Given the description of an element on the screen output the (x, y) to click on. 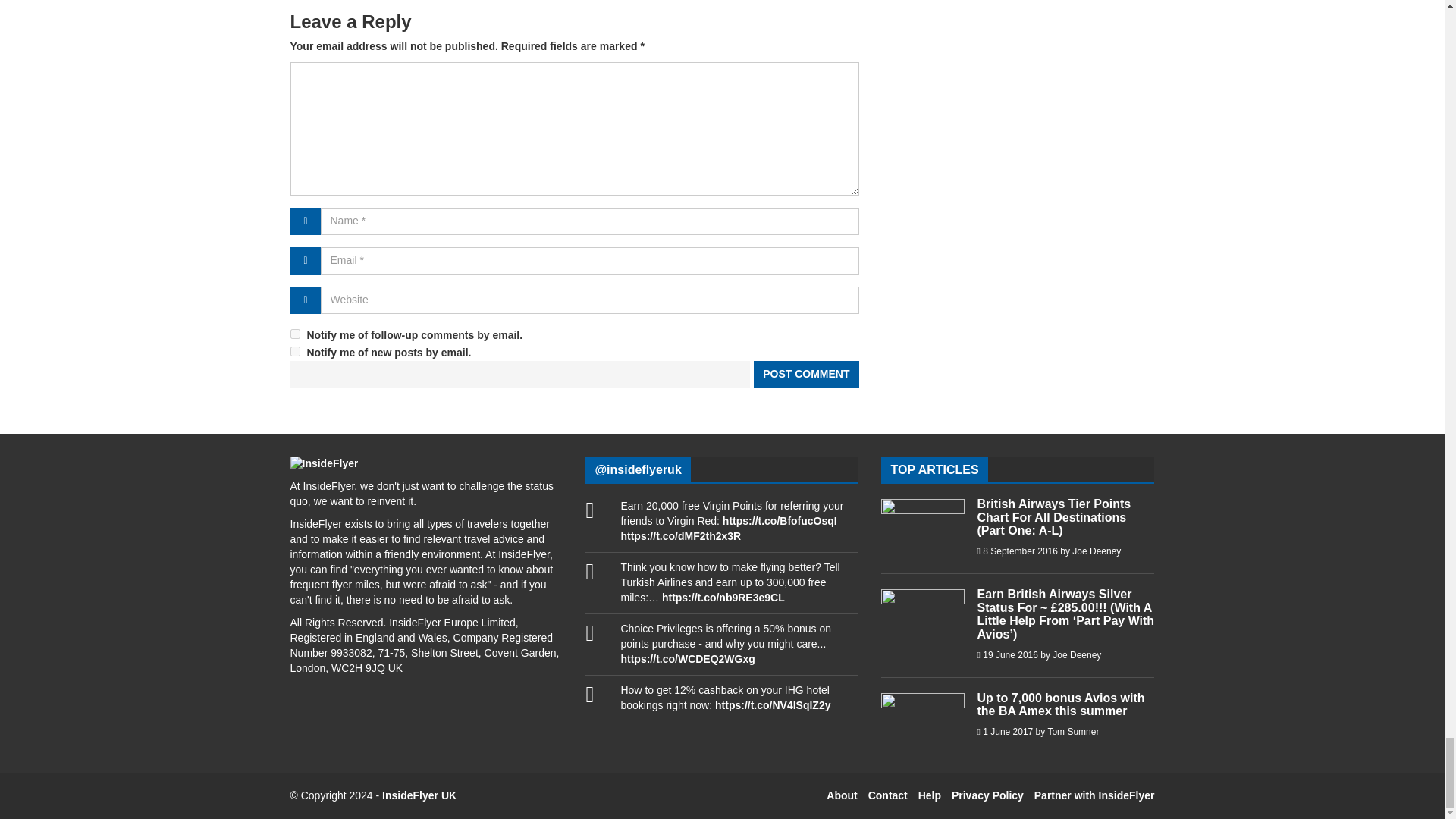
subscribe (294, 351)
Post Comment (804, 374)
subscribe (294, 334)
